Given the description of an element on the screen output the (x, y) to click on. 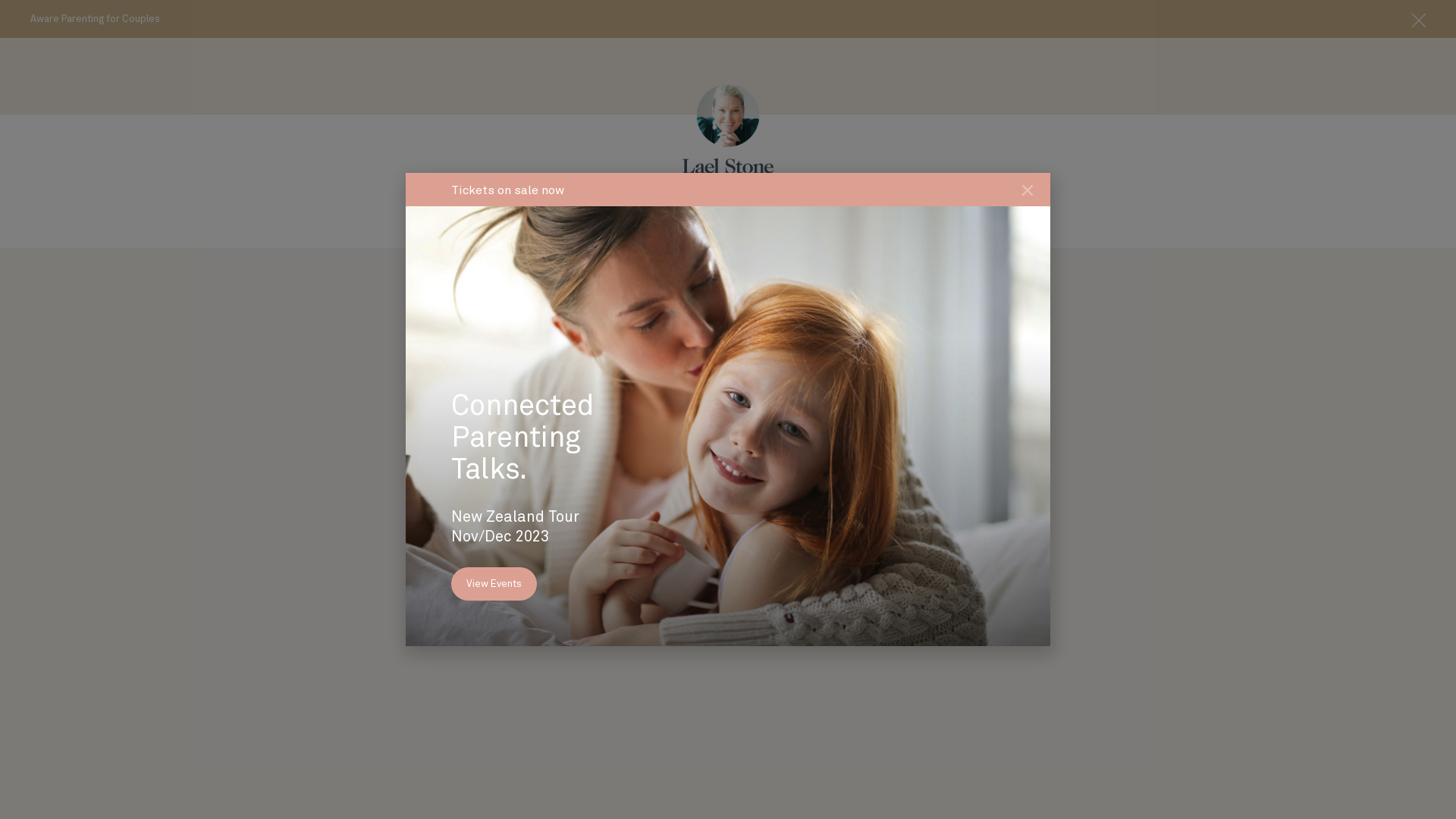
View Events Element type: text (493, 583)
